Given the description of an element on the screen output the (x, y) to click on. 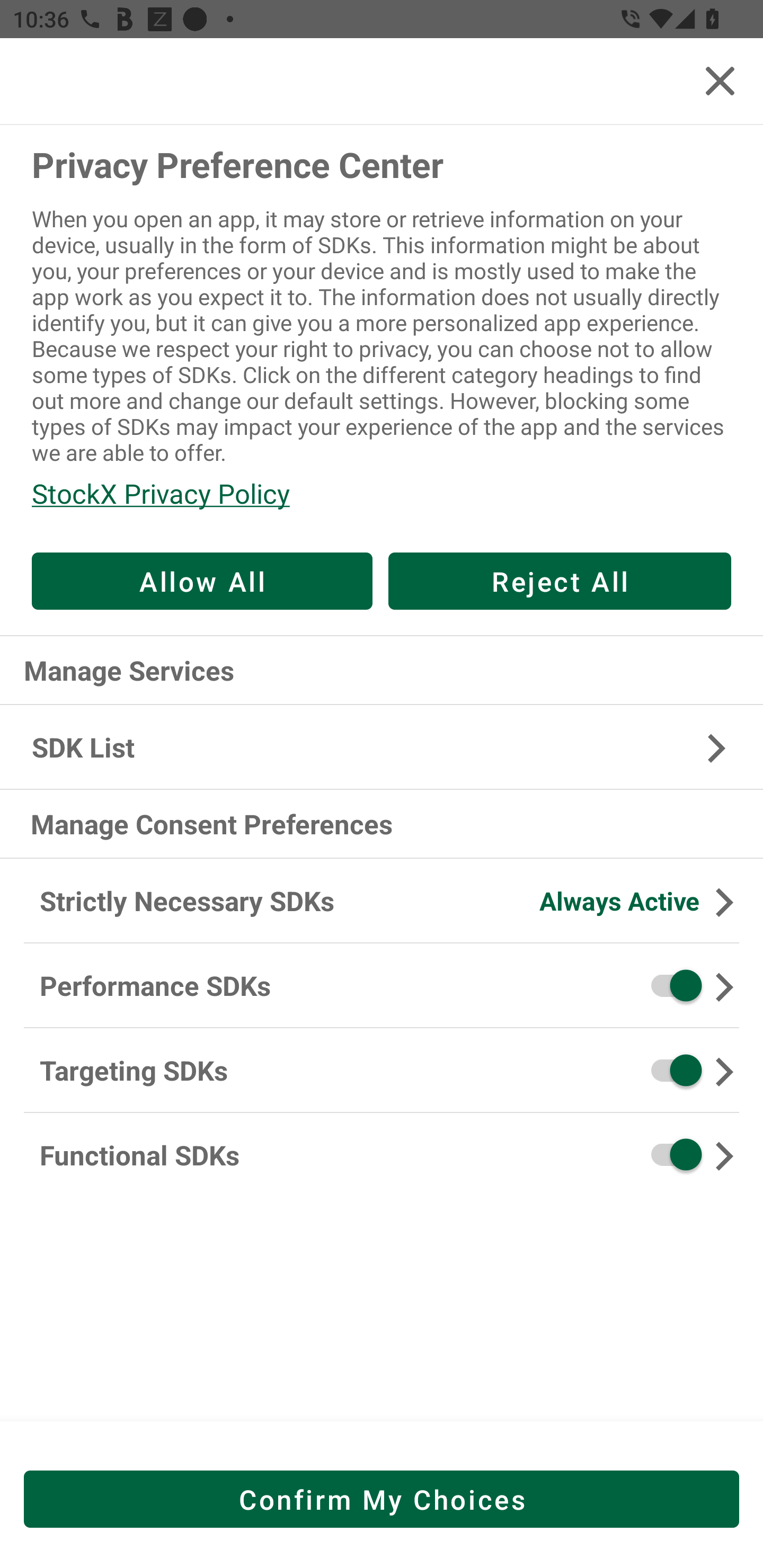
Close (719, 80)
StockX Privacy Policy (381, 493)
Allow All (202, 580)
Reject All (559, 580)
SDK List (381, 746)
Strictly Necessary SDKs Always Active (381, 901)
Performance SDKs Consent (381, 985)
Consent (670, 985)
Targeting SDKs Consent (381, 1070)
Consent (670, 1069)
Functional SDKs Consent (381, 1154)
Consent (670, 1154)
Confirm My Choices (381, 1498)
